Given the description of an element on the screen output the (x, y) to click on. 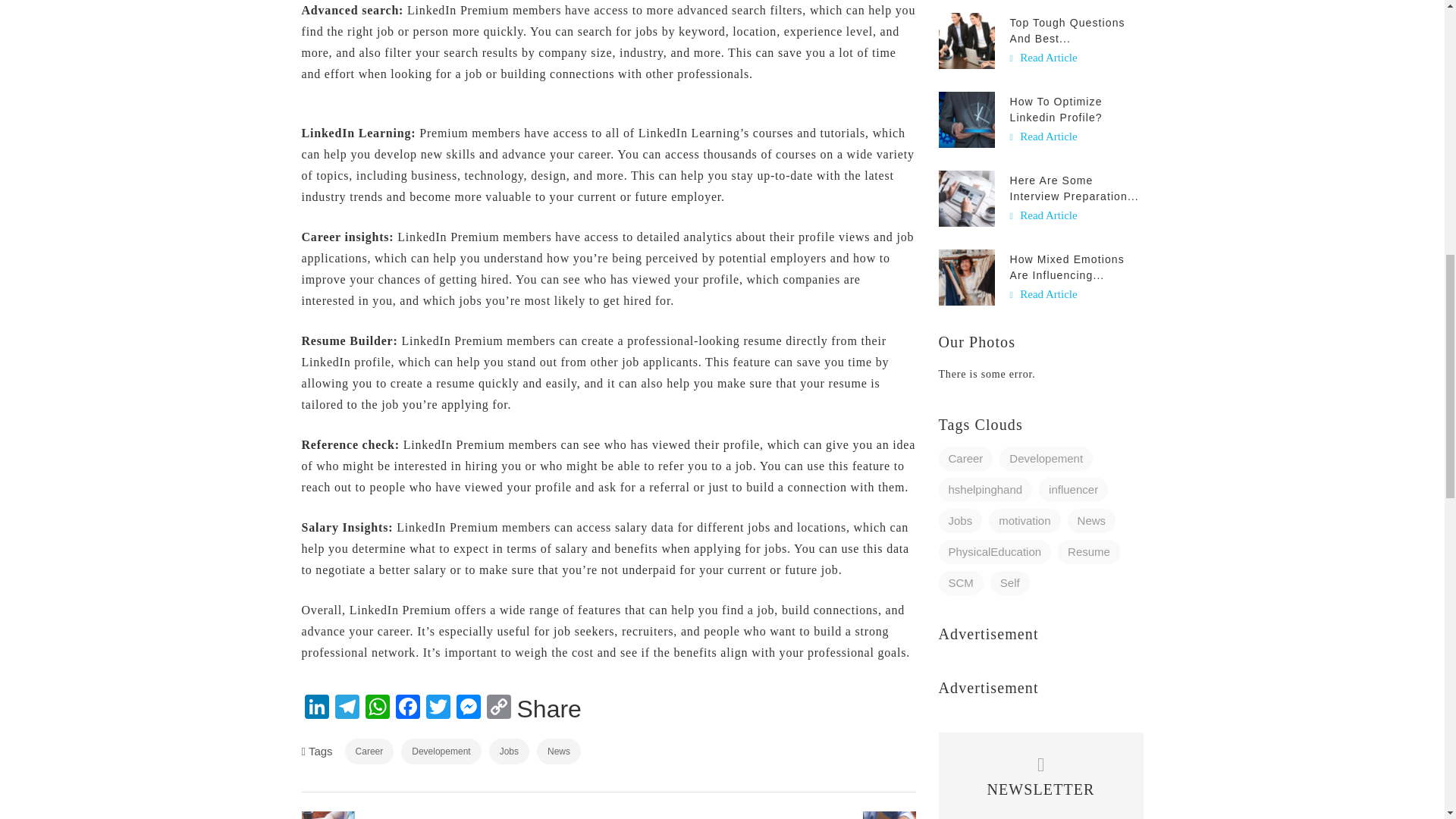
Messenger (467, 708)
Facebook (408, 708)
WhatsApp (377, 708)
Facebook (408, 708)
Telegram (346, 708)
LinkedIn (316, 708)
Telegram (346, 708)
Copy Link (498, 708)
Twitter (437, 708)
Top tough questions and best answers (966, 39)
Twitter (437, 708)
Here are some interview preparation tips for freshers? (966, 197)
LinkedIn (316, 708)
How mixed emotions are influencing customer buying behavior? (966, 276)
WhatsApp (377, 708)
